Given the description of an element on the screen output the (x, y) to click on. 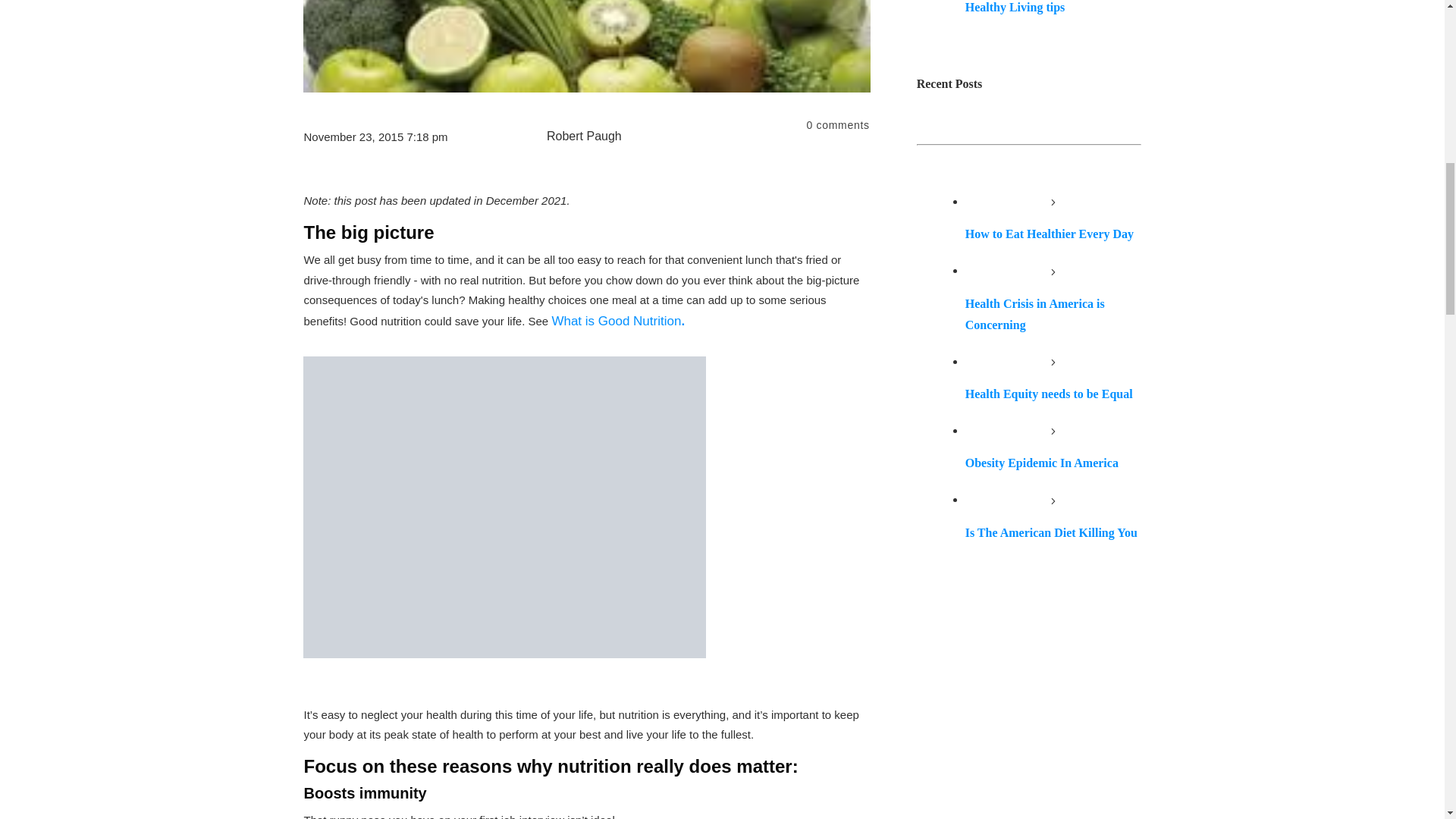
Health Equity needs to be Equal (1048, 393)
Is The American Diet Killing You (1051, 532)
What is Good Nutrition. (617, 320)
Health Crisis in America is Concerning (1035, 314)
Foods that can save your life (586, 46)
Foods that can save your life (504, 507)
Obesity Epidemic In America (1041, 462)
Healthy Living tips (1015, 6)
How to Eat Healthier Every Day (1049, 233)
